Given the description of an element on the screen output the (x, y) to click on. 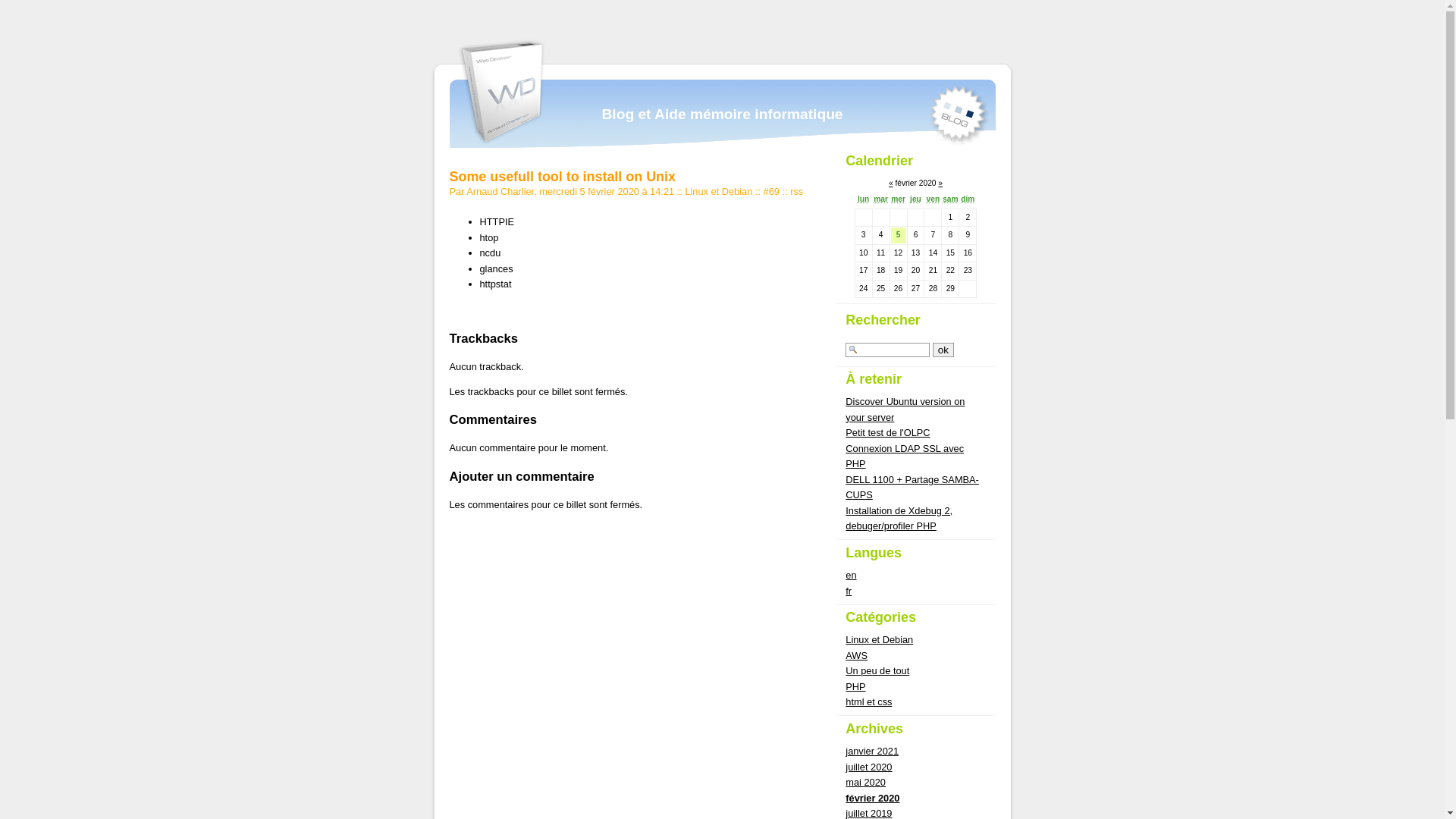
PHP Element type: text (855, 686)
ok Element type: text (942, 349)
Connexion LDAP SSL avec PHP Element type: text (904, 455)
juillet 2020 Element type: text (868, 766)
Linux et Debian Element type: text (879, 639)
mai 2020 Element type: text (865, 781)
en Element type: text (850, 574)
fr Element type: text (848, 590)
html et css Element type: text (868, 701)
5 Element type: text (898, 234)
Petit test de l'OLPC Element type: text (887, 432)
Discover Ubuntu version on your server Element type: text (904, 408)
Installation de Xdebug 2, debuger/profiler PHP Element type: text (898, 518)
Linux et Debian Element type: text (718, 191)
DELL 1100 + Partage SAMBA-CUPS Element type: text (912, 486)
Un peu de tout Element type: text (877, 670)
#69 Element type: text (771, 191)
janvier 2021 Element type: text (871, 750)
rss Element type: text (796, 191)
AWS Element type: text (856, 655)
